Given the description of an element on the screen output the (x, y) to click on. 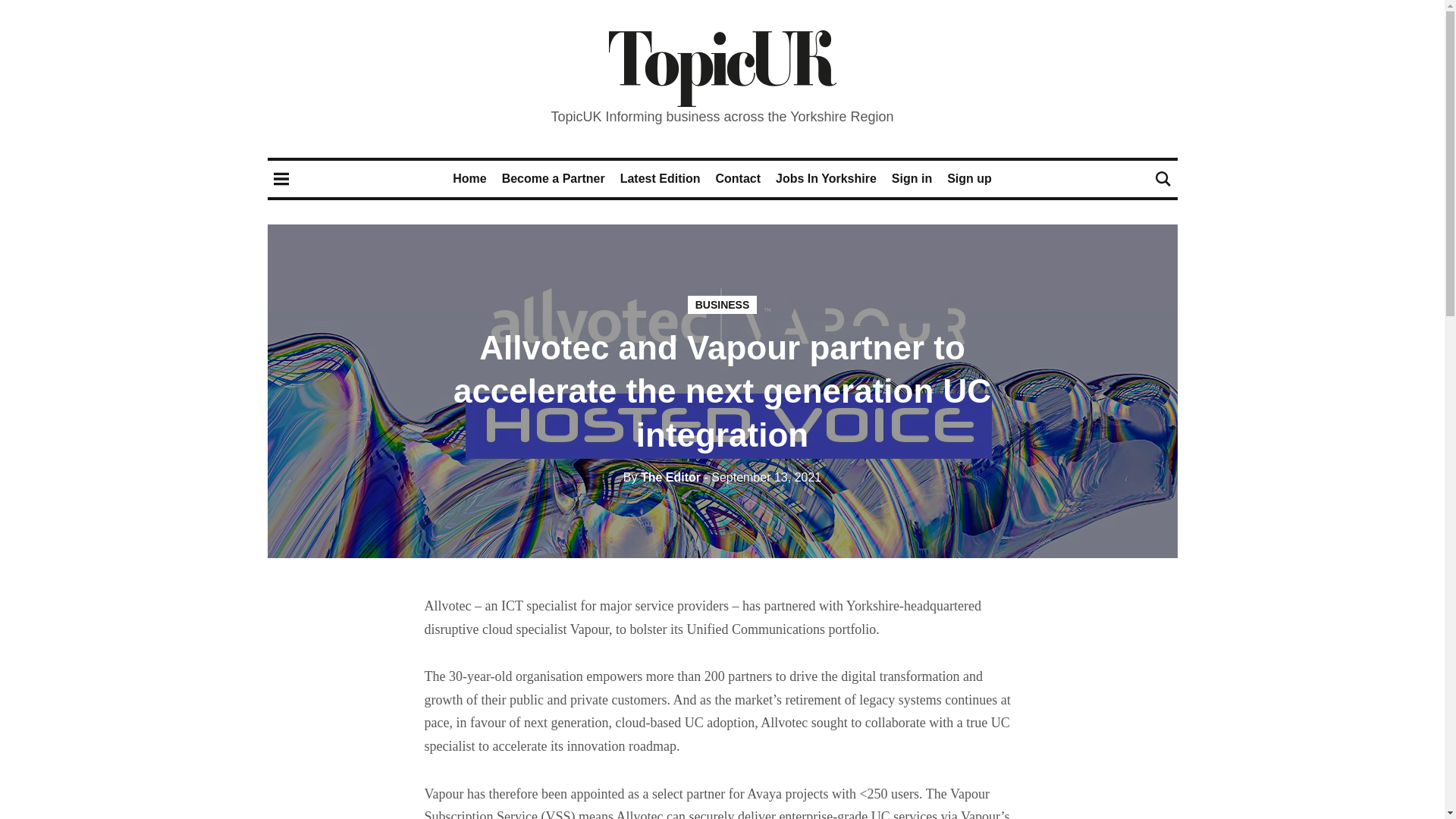
BUSINESS (722, 304)
Latest Edition (660, 178)
Become a Partner (553, 178)
Sign in (911, 178)
Sign up (969, 178)
Jobs In Yorkshire (826, 178)
By The Editor (661, 477)
13 September, 2021 (762, 477)
Home (469, 178)
Contact (737, 178)
